Given the description of an element on the screen output the (x, y) to click on. 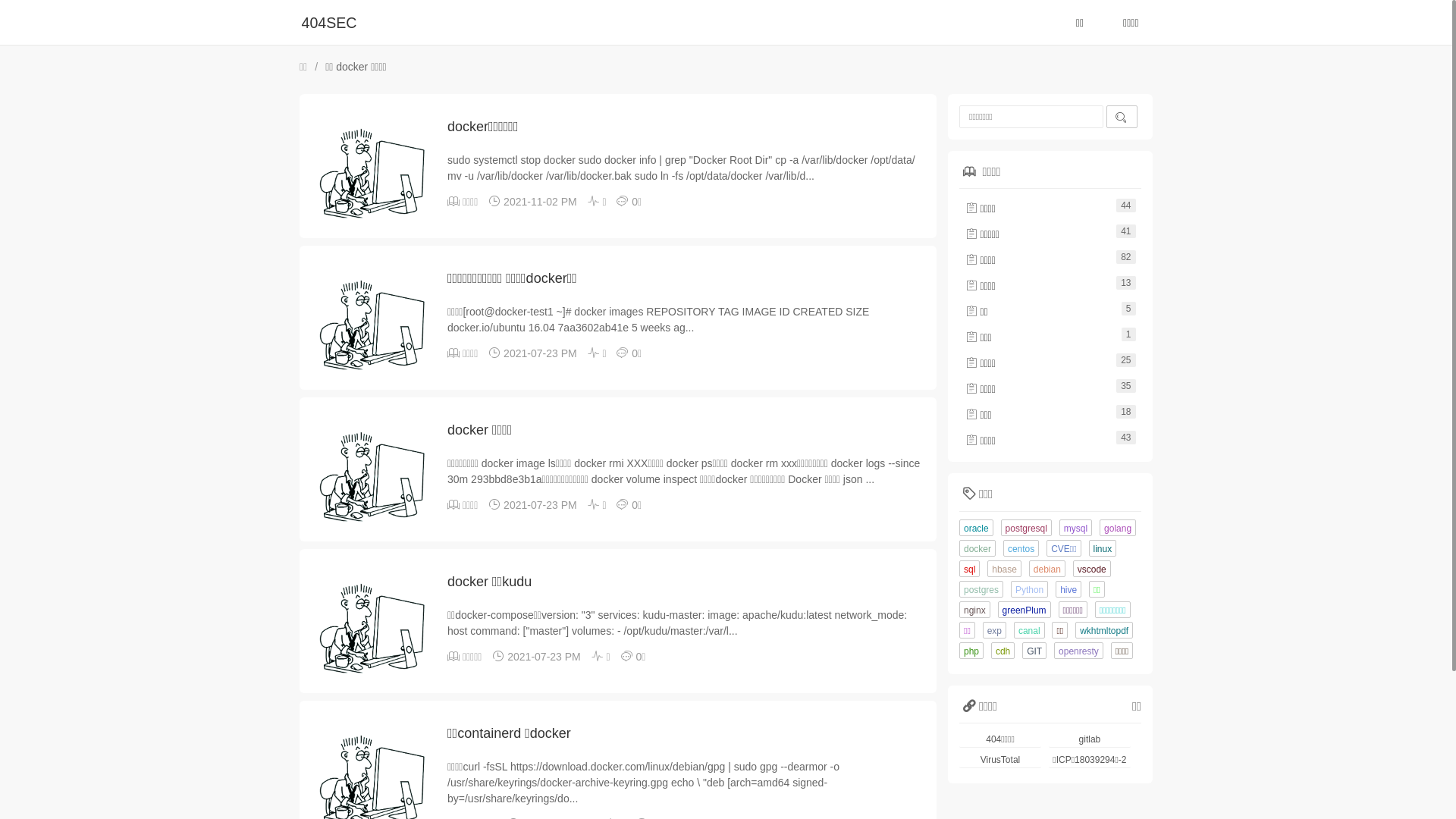
oracle Element type: text (976, 527)
hive Element type: text (1068, 588)
mysql Element type: text (1075, 527)
cdh Element type: text (1002, 650)
Python Element type: text (1029, 588)
vscode Element type: text (1091, 568)
greenPlum Element type: text (1024, 609)
centos Element type: text (1020, 547)
linux Element type: text (1102, 547)
sql Element type: text (969, 568)
nginx Element type: text (974, 609)
openresty Element type: text (1078, 650)
wkhtmltopdf Element type: text (1103, 629)
golang Element type: text (1117, 527)
exp Element type: text (994, 629)
GIT Element type: text (1034, 650)
debian Element type: text (1047, 568)
postgres Element type: text (981, 588)
postgresql Element type: text (1026, 527)
404SEC Element type: text (329, 23)
VirusTotal Element type: text (1000, 759)
canal Element type: text (1028, 629)
hbase Element type: text (1004, 568)
docker Element type: text (977, 547)
php Element type: text (971, 650)
gitlab Element type: text (1089, 739)
